Given the description of an element on the screen output the (x, y) to click on. 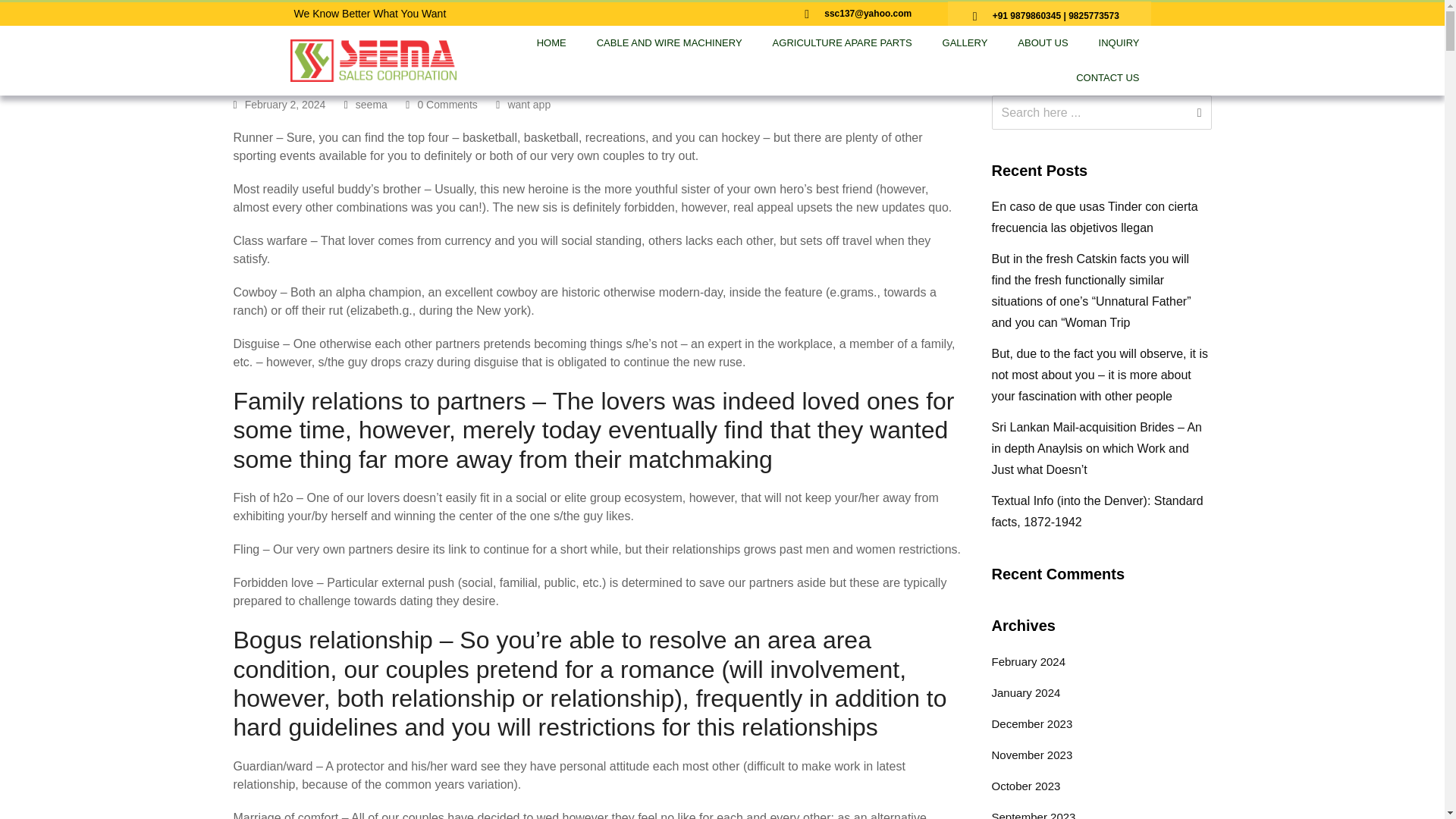
October 2023 (1026, 785)
seema (371, 104)
GALLERY (965, 42)
want app (528, 104)
ABOUT US (1043, 42)
INQUIRY (1118, 42)
CONTACT US (1107, 77)
November 2023 (1032, 754)
AGRICULTURE APARE PARTS (842, 42)
February 2024 (1028, 661)
